Given the description of an element on the screen output the (x, y) to click on. 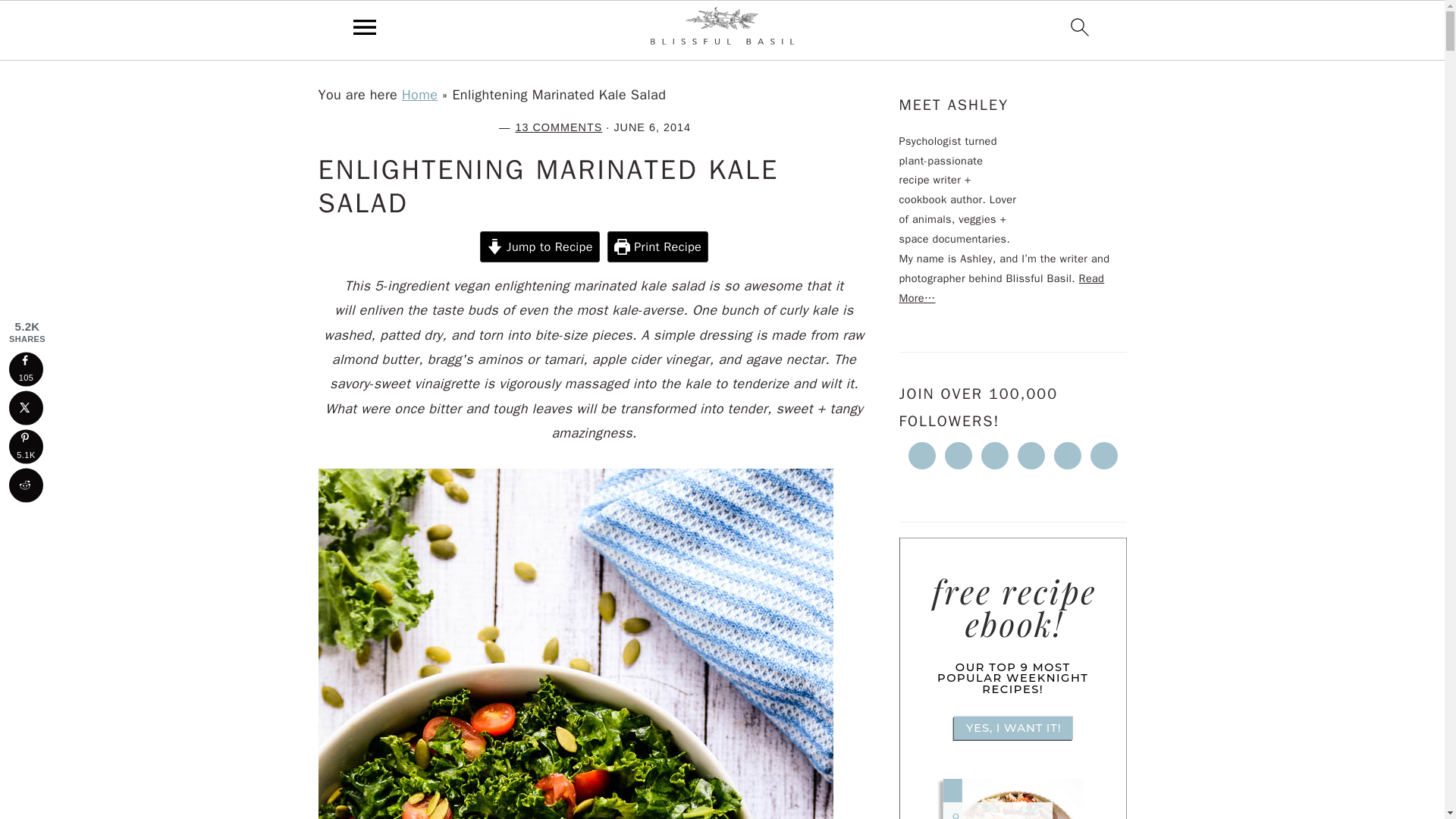
Share on X (25, 407)
Home (419, 94)
Share on Facebook (25, 368)
search icon (1080, 26)
13 COMMENTS (558, 127)
Jump to Recipe (539, 246)
Save to Pinterest (25, 446)
Print Recipe (657, 246)
menu icon (365, 26)
